Given the description of an element on the screen output the (x, y) to click on. 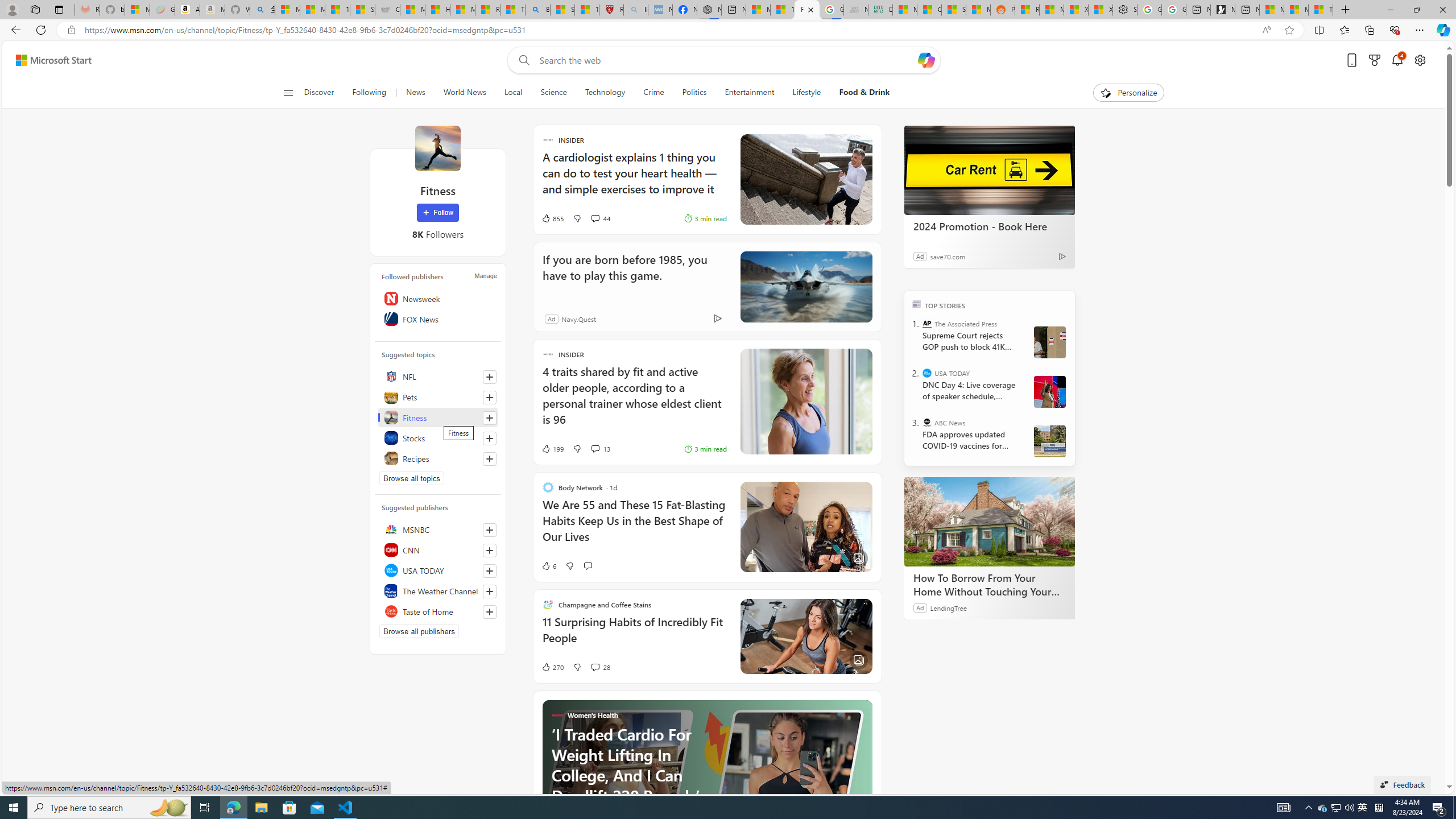
Entertainment (748, 92)
Politics (694, 92)
View comments 44 Comment (594, 217)
CNN (437, 549)
save70.com (947, 256)
Recipes - MSN (487, 9)
If you are born before 1985, you have to play this game. (805, 286)
Stocks (437, 437)
